Given the description of an element on the screen output the (x, y) to click on. 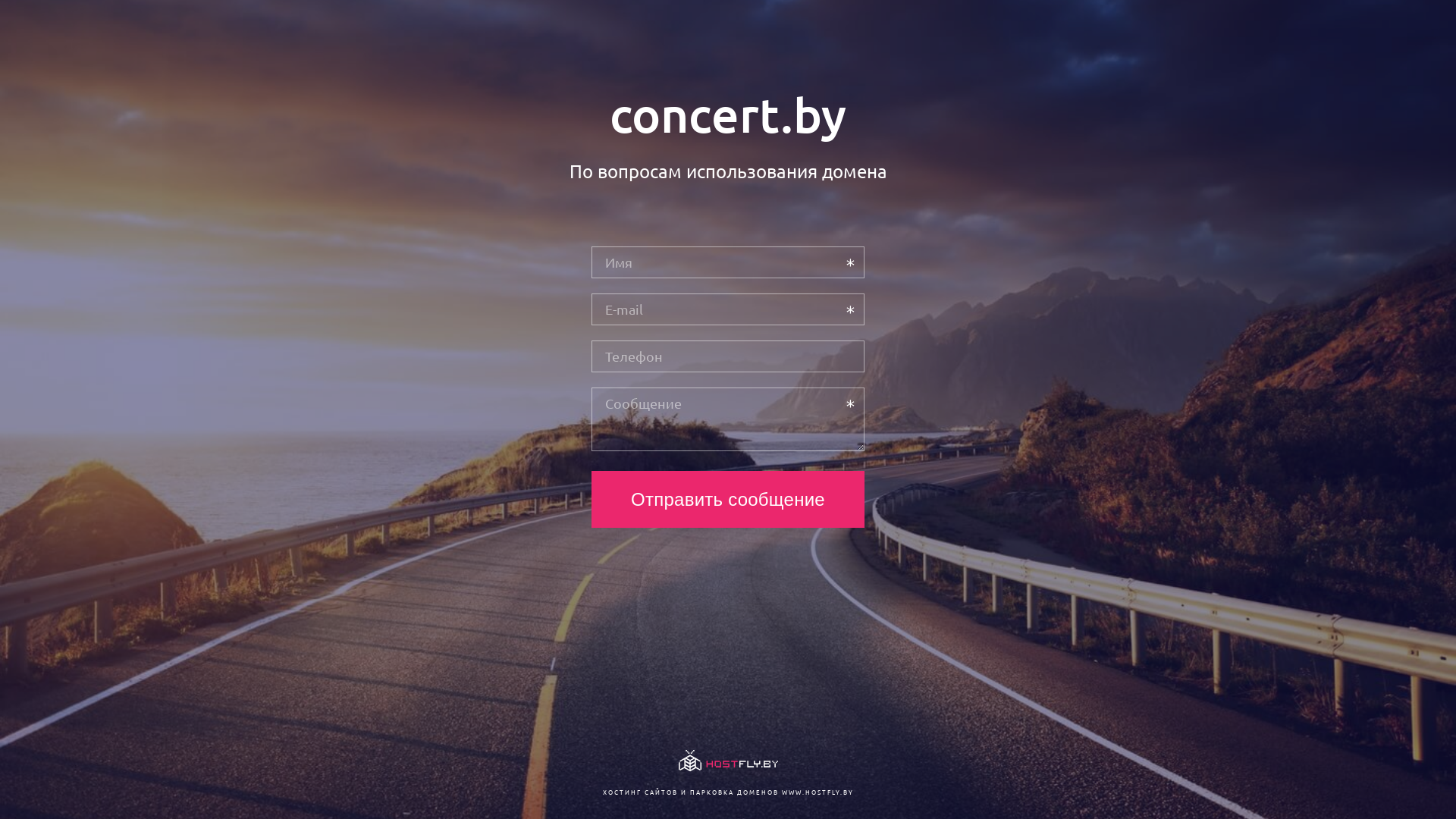
WWW.HOSTFLY.BY Element type: text (817, 791)
